Given the description of an element on the screen output the (x, y) to click on. 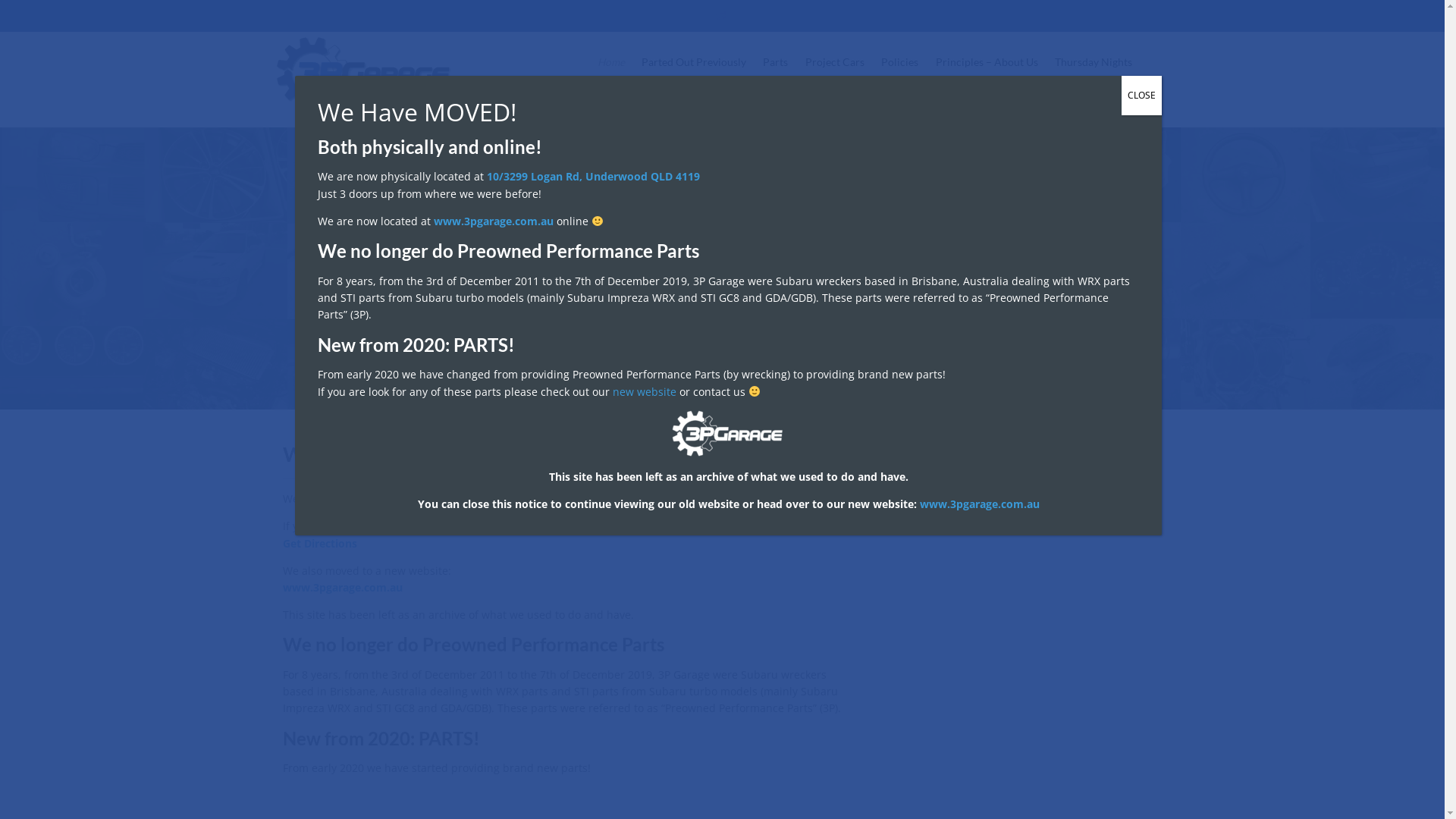
10/3299 Logan Rd, Underwood QLD 4119 Element type: text (592, 176)
www.3pgarage.com.au Element type: text (341, 587)
3P Garage Element type: hover (365, 73)
Parted Out Previously Element type: text (693, 61)
www.3pgarage.com.au Element type: text (493, 220)
www.3pgarage.com.au Element type: text (978, 503)
Project Cars Element type: text (834, 61)
new website Element type: text (644, 390)
Thursday Nights Element type: text (1093, 61)
Parts Element type: text (775, 61)
CLOSE Element type: text (1141, 95)
Home Element type: text (611, 61)
Policies Element type: text (899, 61)
Get Directions Element type: text (319, 543)
